Given the description of an element on the screen output the (x, y) to click on. 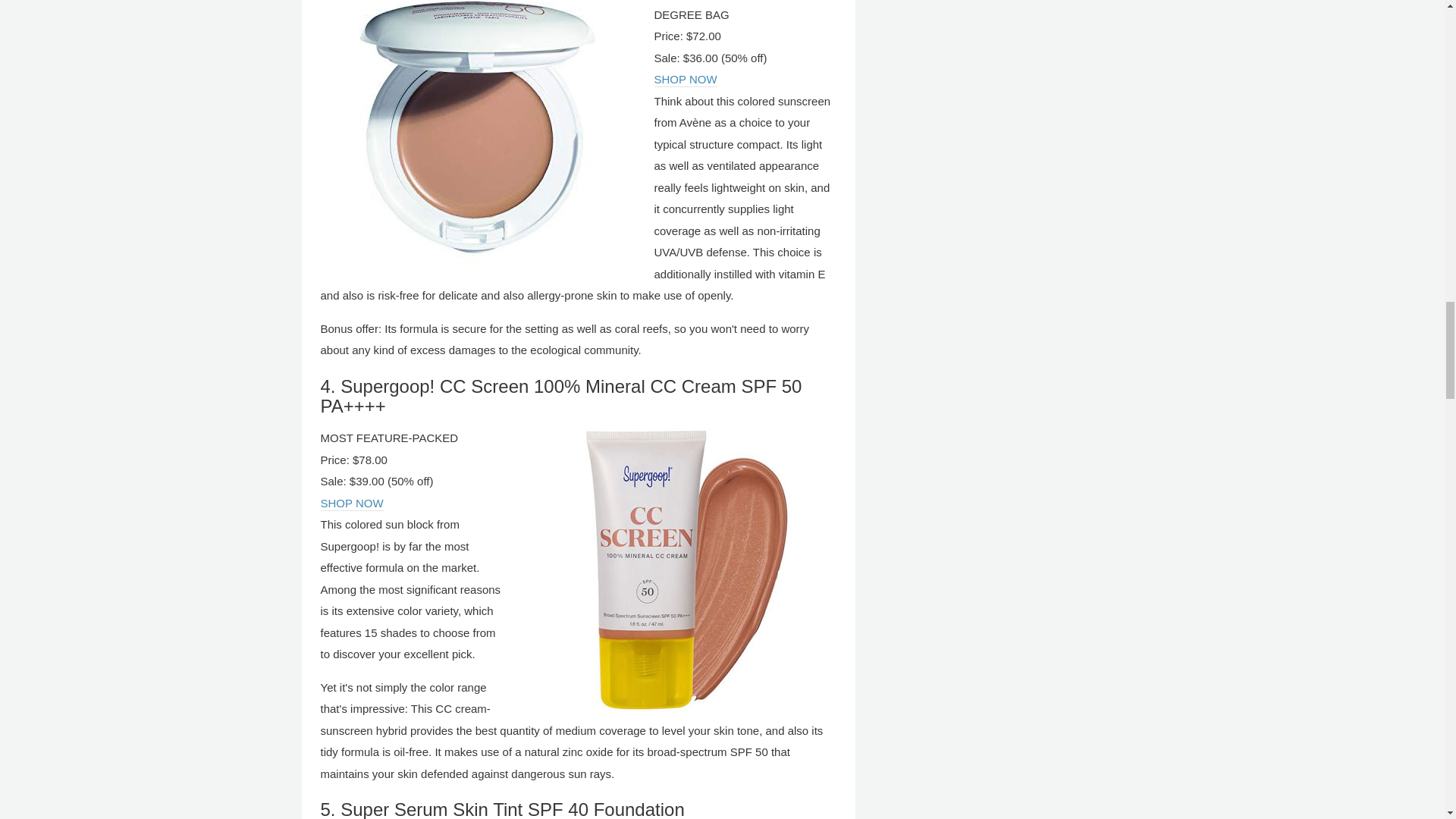
SHOP NOW (684, 79)
SHOP NOW (684, 79)
SHOP NOW (351, 503)
SHOP NOW (351, 503)
